Given the description of an element on the screen output the (x, y) to click on. 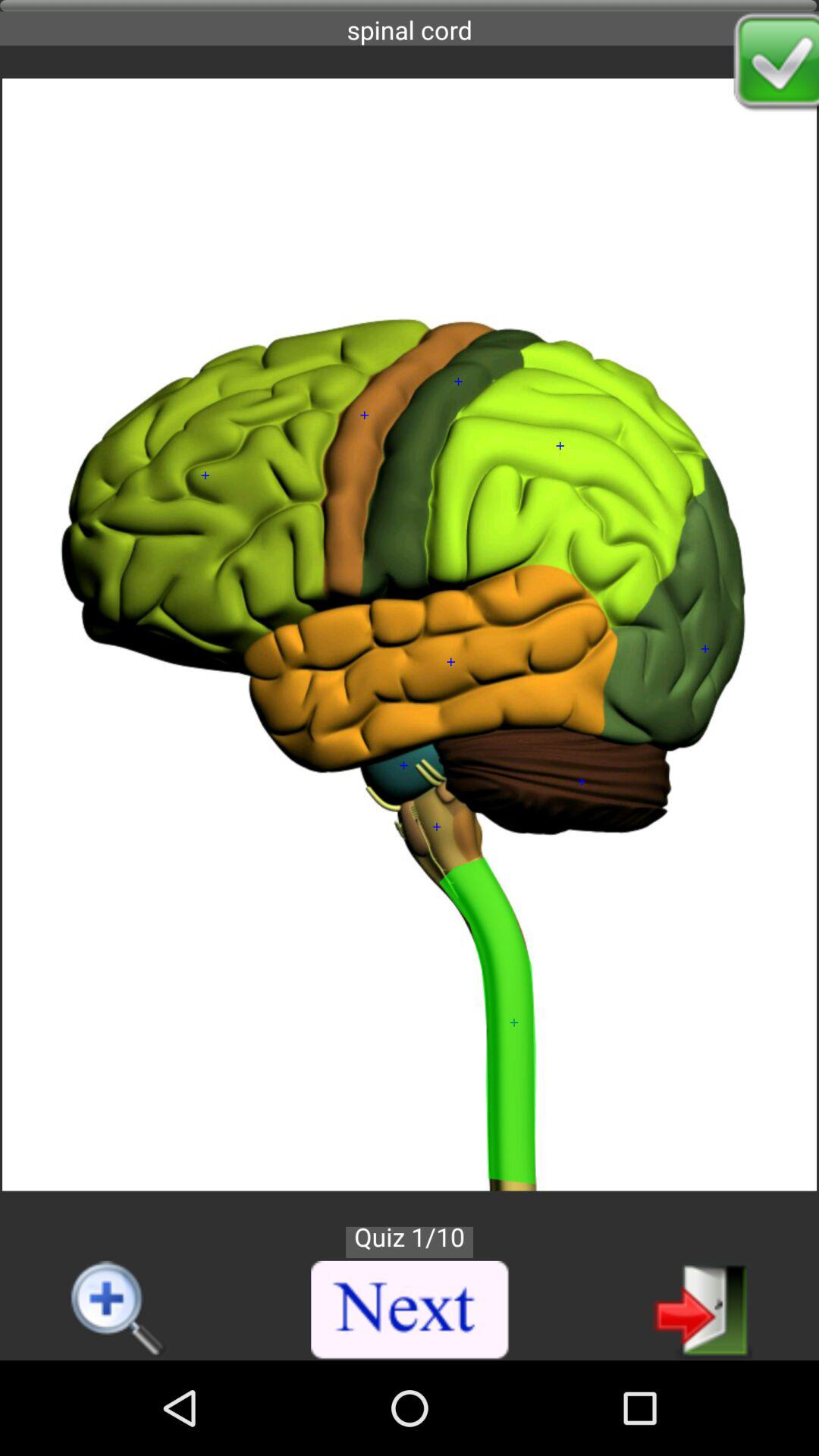
for next quiz (702, 1309)
